Given the description of an element on the screen output the (x, y) to click on. 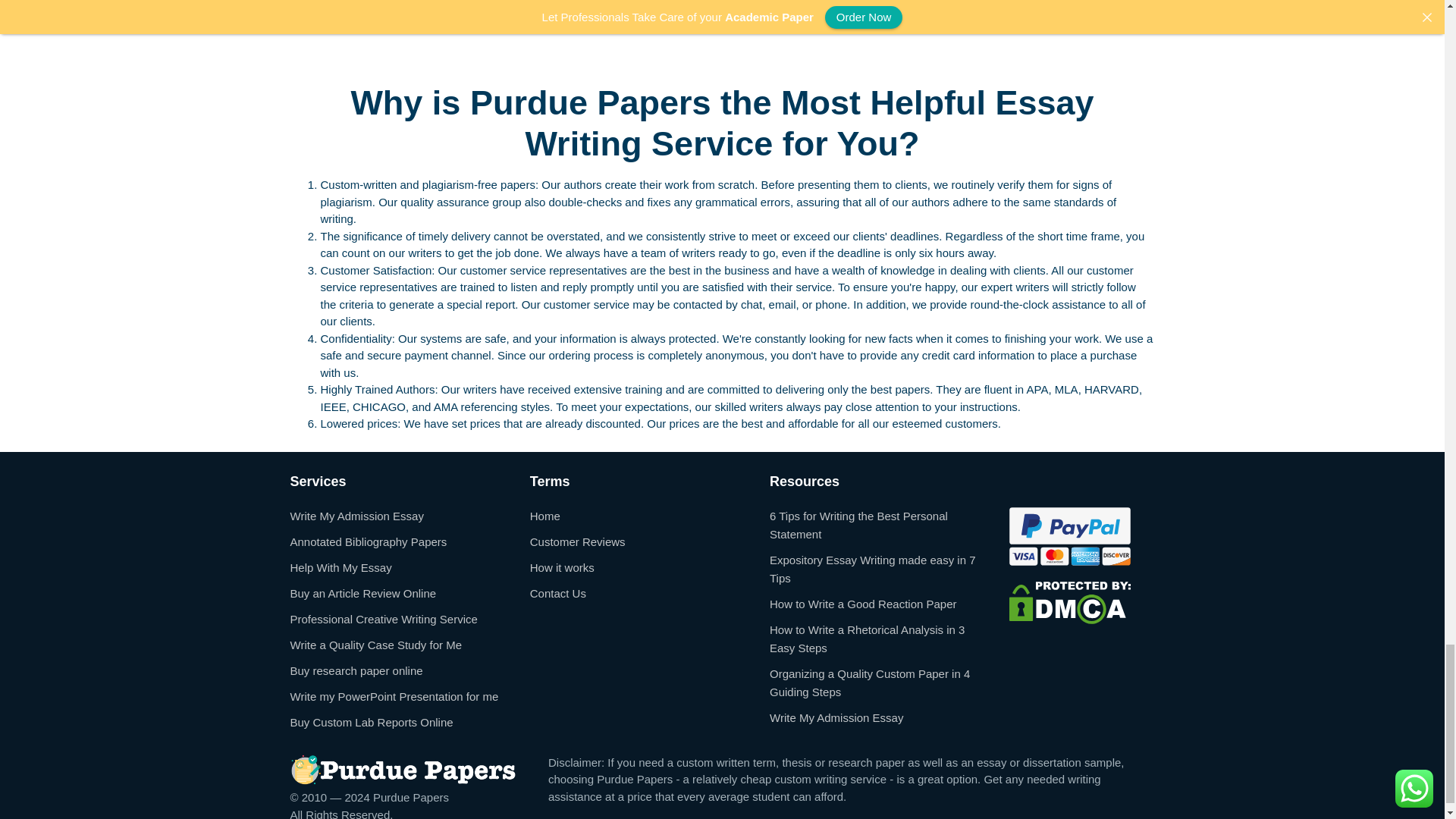
Help With My Essay (340, 567)
DMCA (1070, 601)
Write My Admission Essay (356, 515)
Read more (629, 29)
Buy an Article Review Online (362, 593)
Annotated Bibliography Papers (367, 541)
Read more (329, 29)
